Given the description of an element on the screen output the (x, y) to click on. 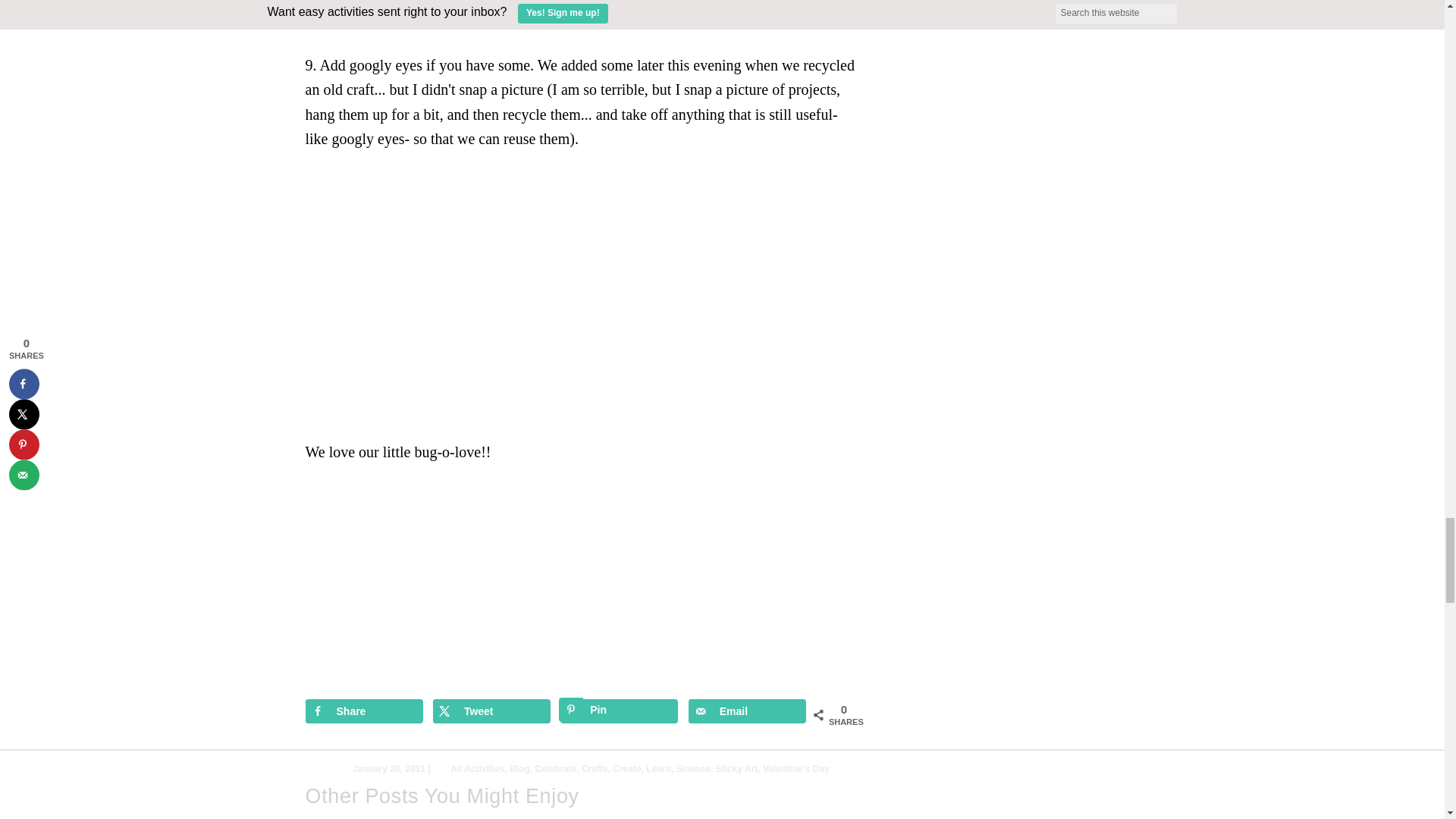
Share on X (491, 711)
Send over email (747, 711)
Share on Facebook (363, 711)
Save to Pinterest (619, 711)
